Given the description of an element on the screen output the (x, y) to click on. 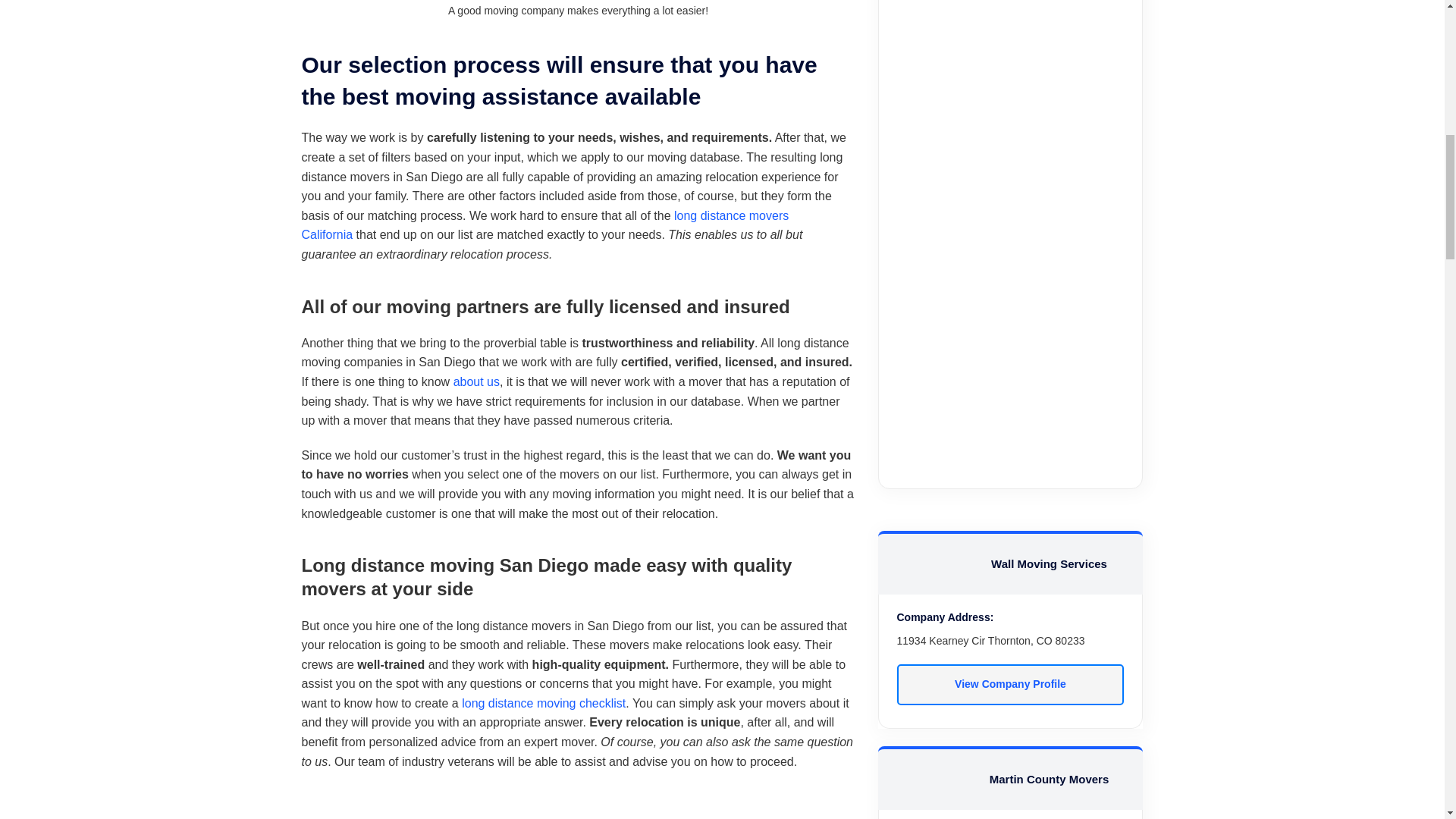
long distance movers California (545, 225)
View Company Profile (1010, 684)
long distance moving checklist (543, 703)
Get Estimate (1011, 224)
about us (475, 381)
